Given the description of an element on the screen output the (x, y) to click on. 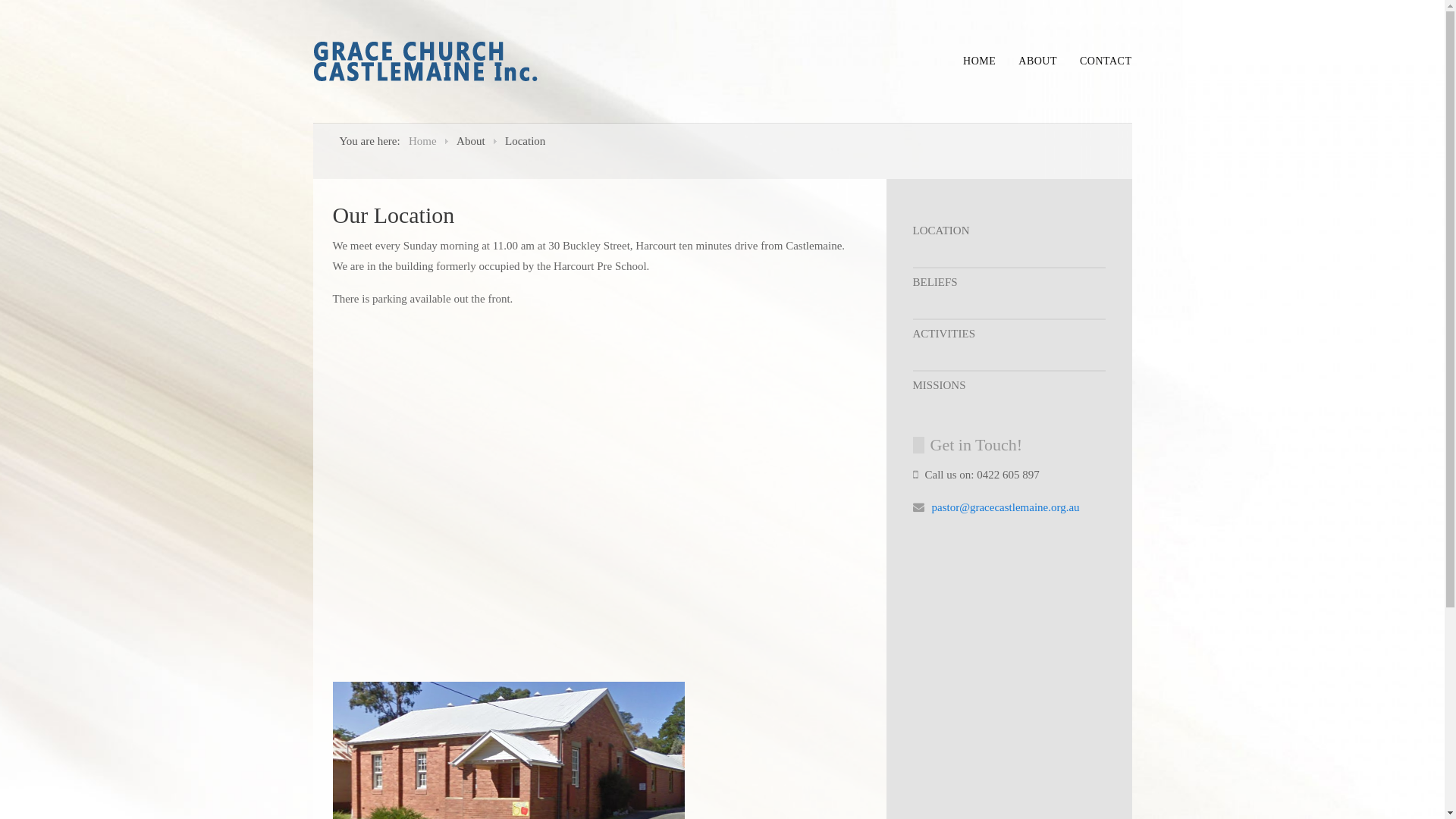
ACTIVITIES Element type: text (1009, 333)
MISSIONS Element type: text (1009, 384)
CONTACT Element type: text (1105, 60)
HOME Element type: text (979, 60)
Home Element type: text (422, 140)
ABOUT Element type: text (1037, 60)
LOCATION Element type: text (1009, 230)
BELIEFS Element type: text (1009, 281)
pastor@gracecastlemaine.org.au Element type: text (1005, 507)
